Given the description of an element on the screen output the (x, y) to click on. 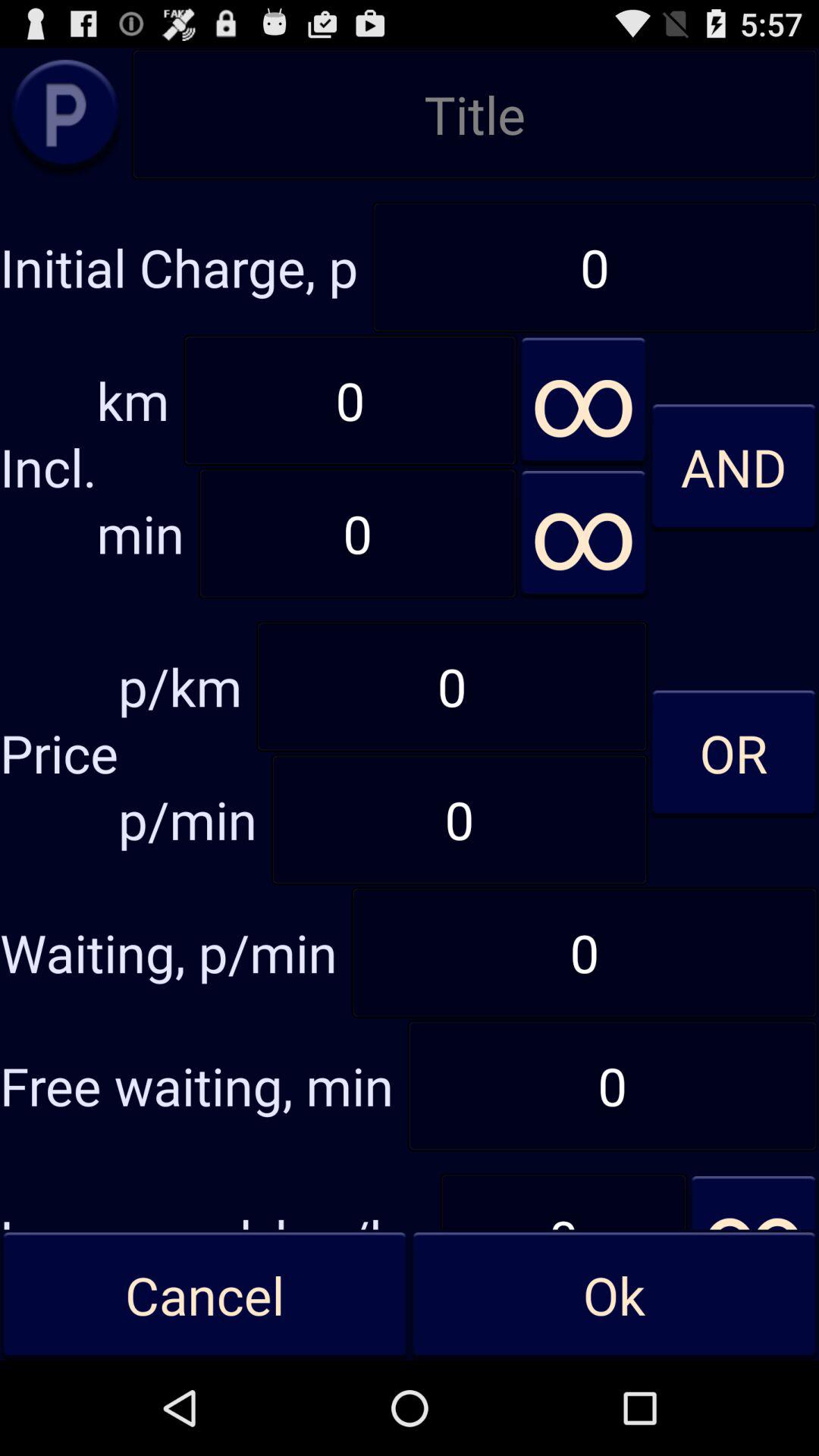
select the option (65, 113)
